Given the description of an element on the screen output the (x, y) to click on. 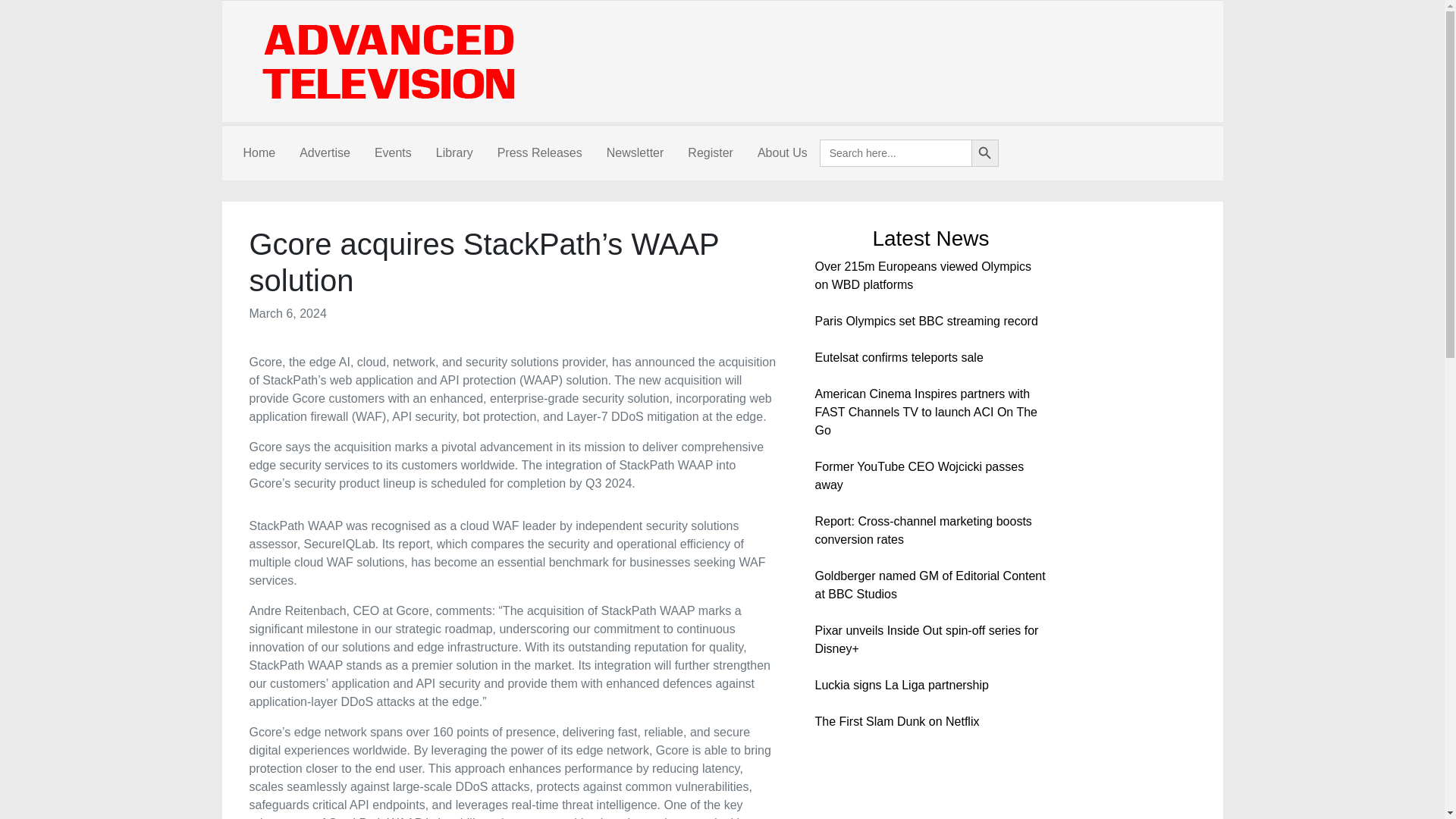
Luckia signs La Liga partnership (900, 684)
Register (710, 153)
Search Button (984, 153)
Events (392, 153)
Press Releases (539, 153)
Report: Cross-channel marketing boosts conversion rates (921, 530)
Library (453, 153)
Newsletter (635, 153)
Over 215m Europeans viewed Olympics on WBD platforms (921, 275)
